Given the description of an element on the screen output the (x, y) to click on. 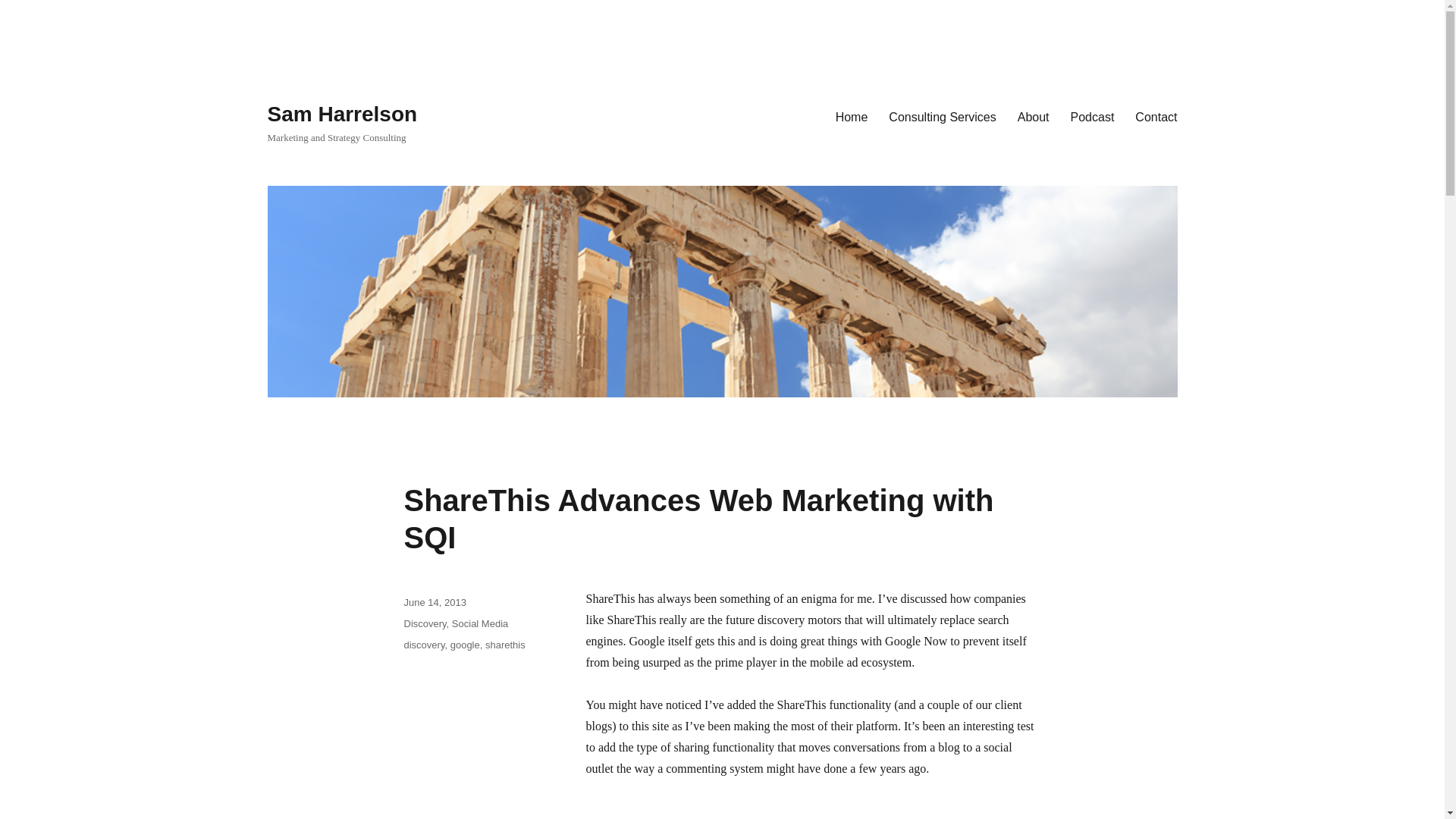
new backend dashboard (866, 810)
Sam Harrelson (341, 114)
Home (852, 116)
sharethis (504, 644)
Contact (1156, 116)
discovery (423, 644)
Social Media (479, 623)
June 14, 2013 (434, 602)
About (1033, 116)
Podcast (1092, 116)
Consulting Services (941, 116)
Discovery (424, 623)
google (464, 644)
